Given the description of an element on the screen output the (x, y) to click on. 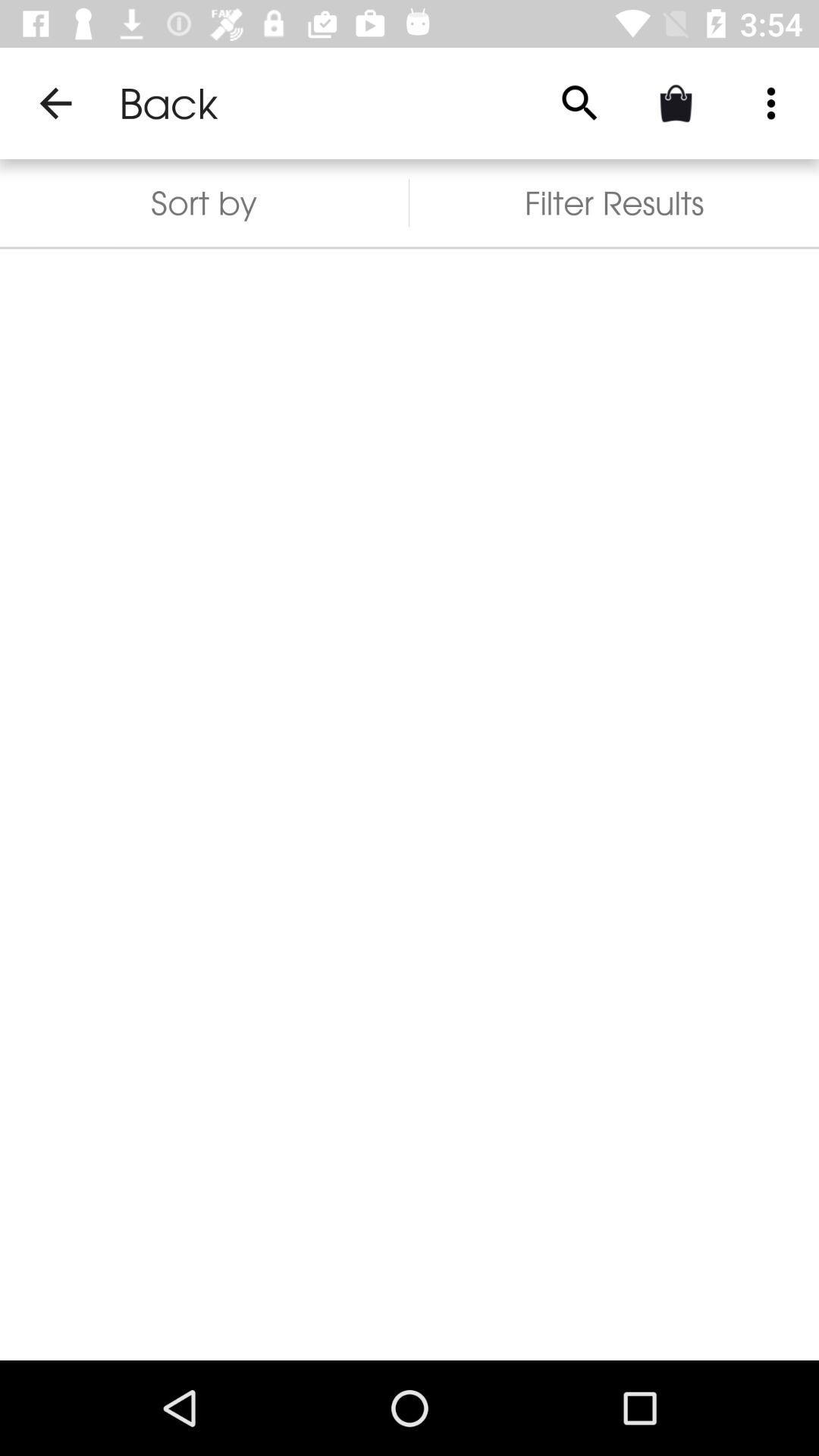
open the icon to the right of sort by (614, 202)
